Given the description of an element on the screen output the (x, y) to click on. 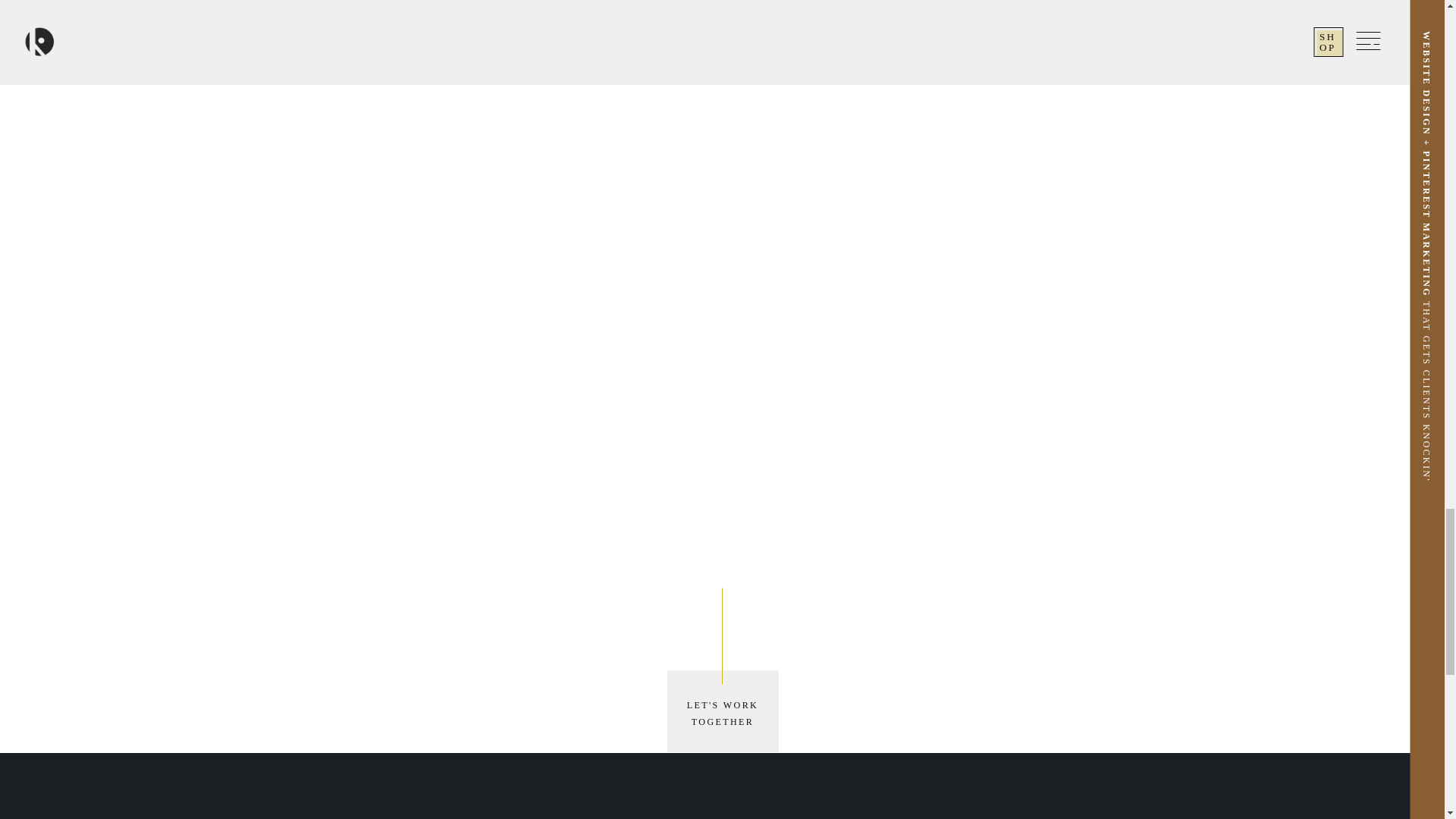
LET'S WORK TOGETHER (722, 714)
